Given the description of an element on the screen output the (x, y) to click on. 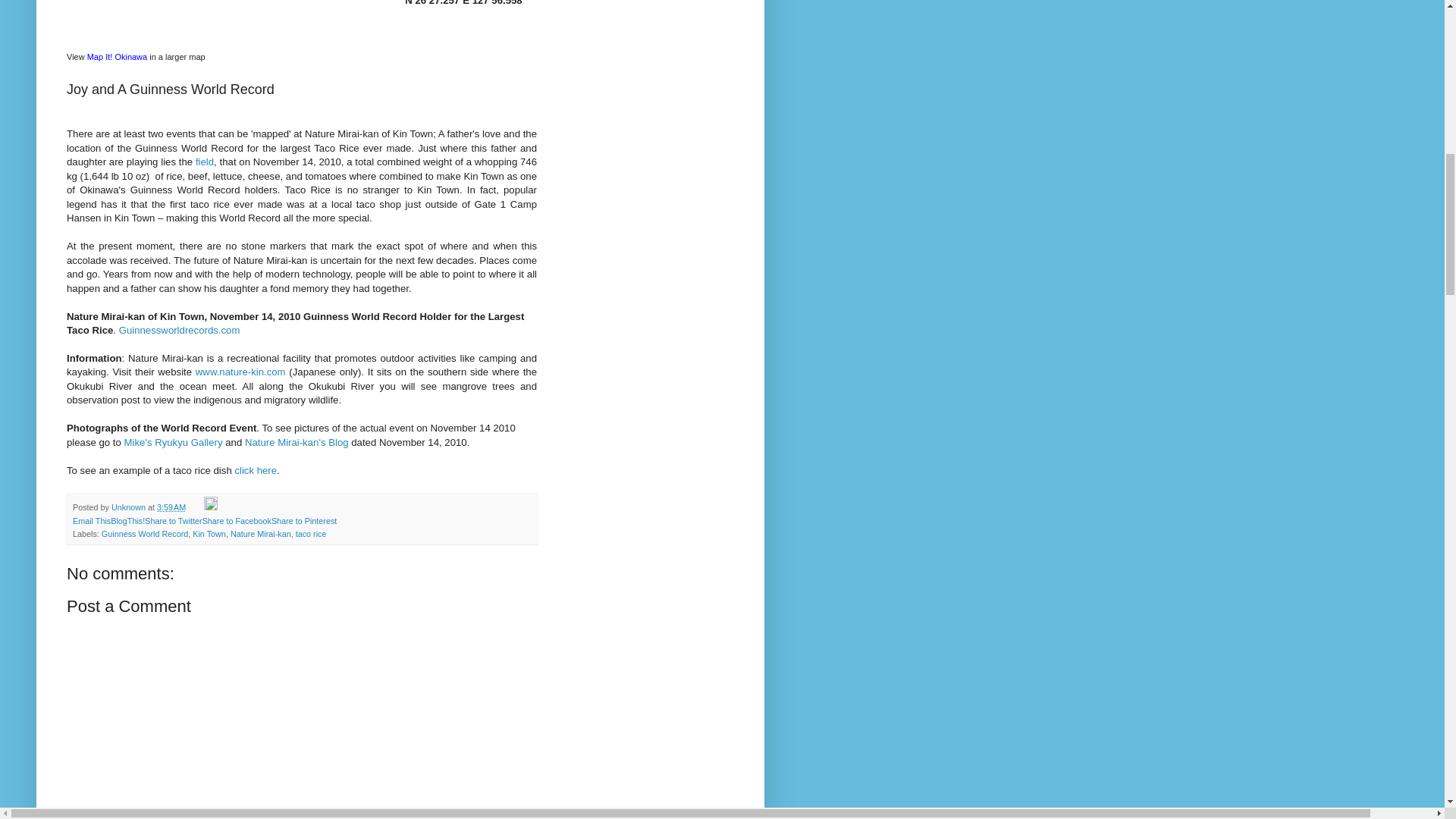
www.nature-kin.com (240, 371)
Share to Pinterest (303, 520)
BlogThis! (127, 520)
Nature Mirai-kan's Blog (296, 441)
Unknown (130, 506)
Mike's Ryukyu Gallery (172, 441)
author profile (130, 506)
permanent link (171, 506)
BlogThis! (127, 520)
Nature Mirai-kan (260, 533)
Share to Facebook (236, 520)
Edit Post (209, 506)
Kin Town (208, 533)
taco rice (310, 533)
